Given the description of an element on the screen output the (x, y) to click on. 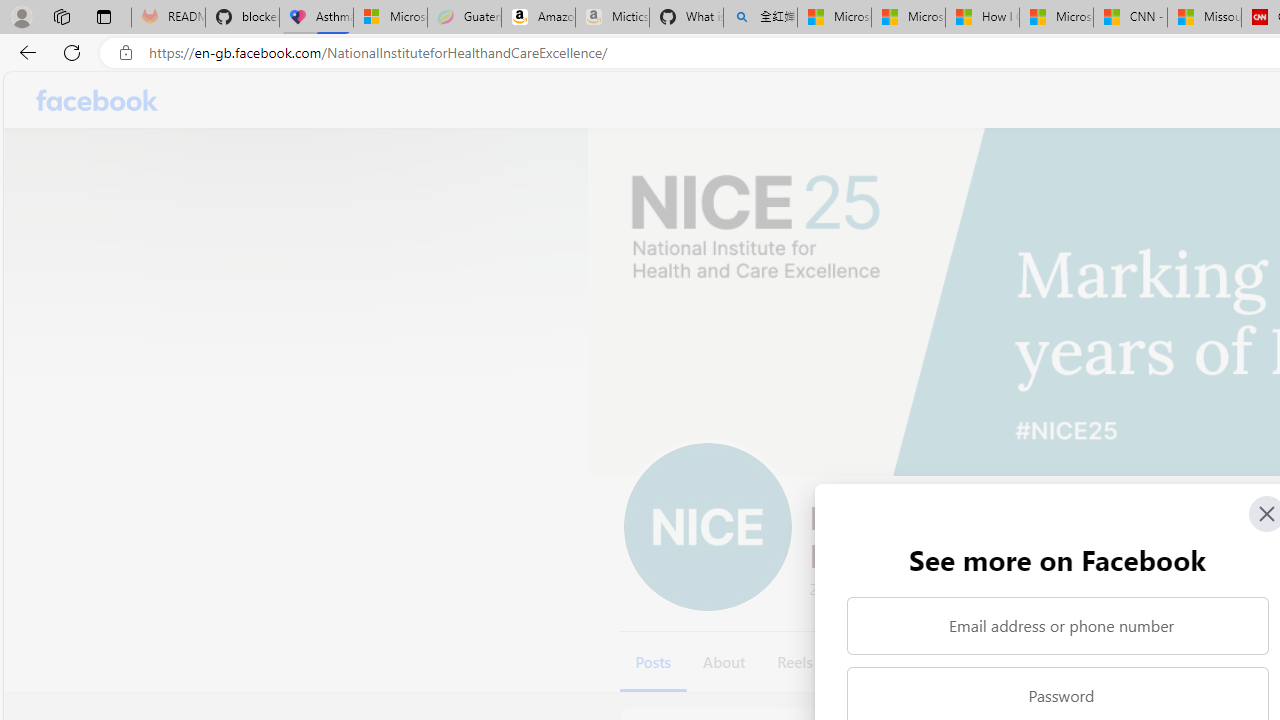
Facebook (97, 99)
